Given the description of an element on the screen output the (x, y) to click on. 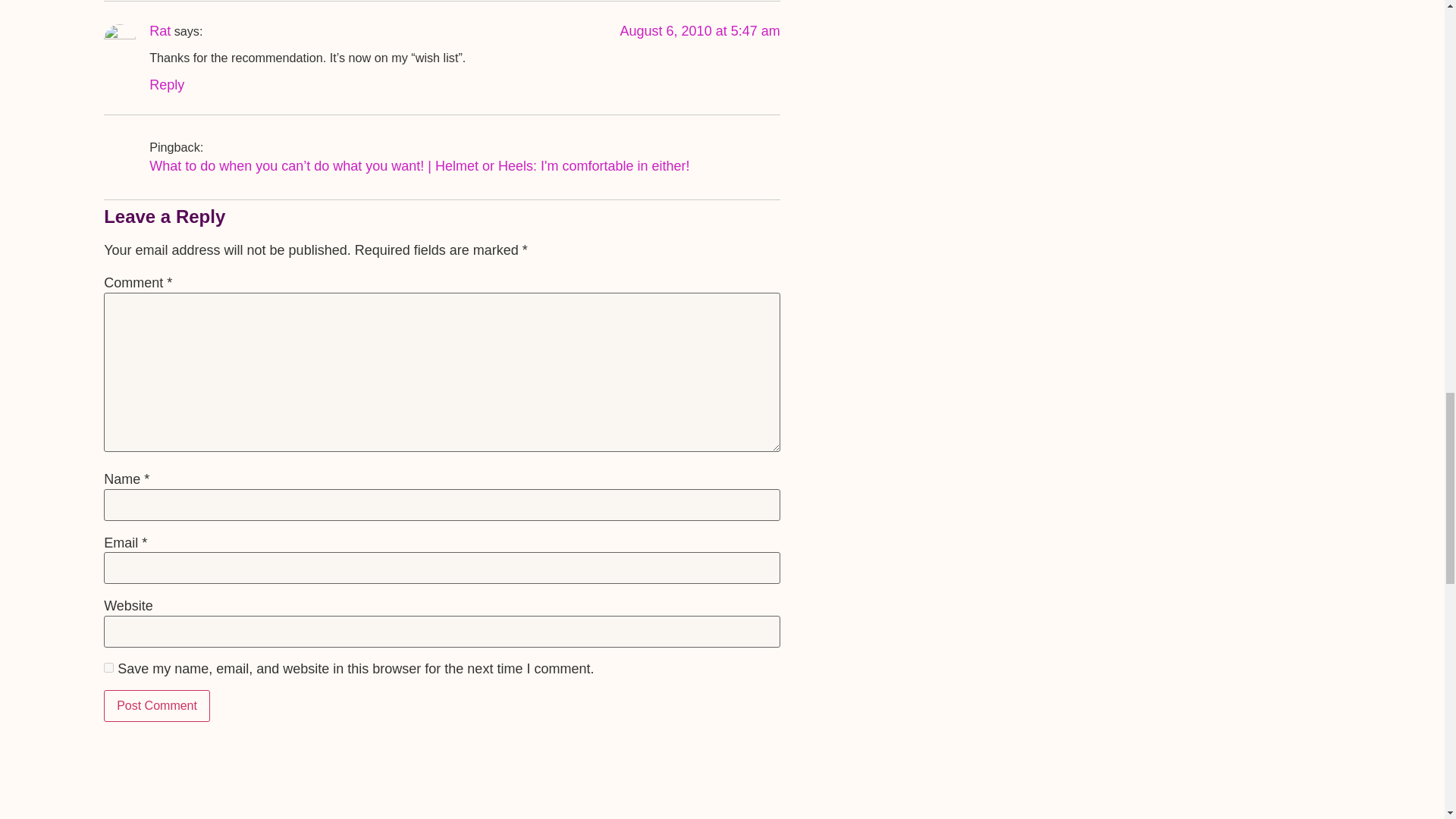
yes (108, 667)
Post Comment (156, 705)
